Given the description of an element on the screen output the (x, y) to click on. 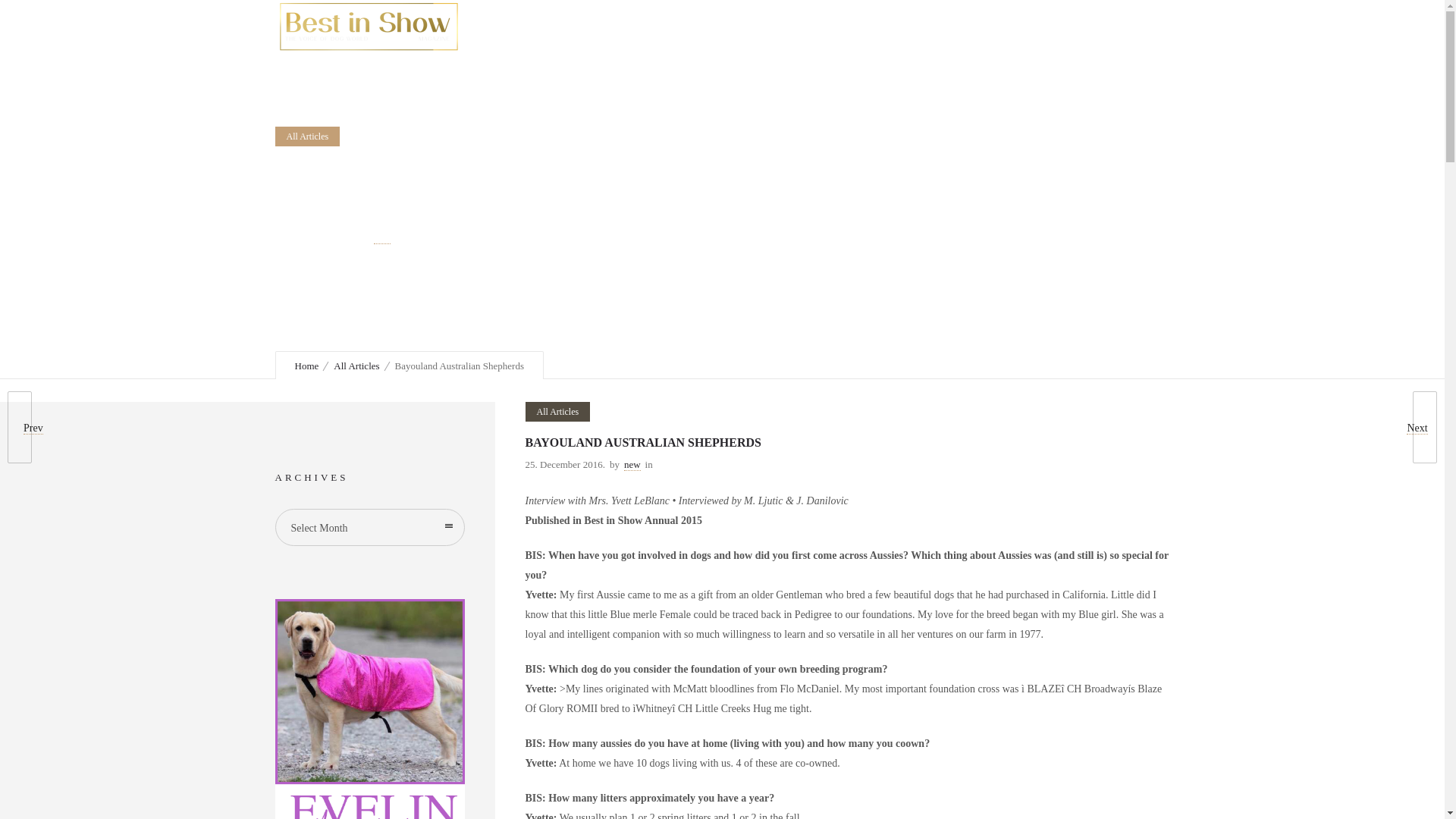
DIGITAL EDITION (722, 26)
All Articles (307, 136)
CONTACT US (1001, 26)
new (382, 237)
ADVERTISING (838, 26)
All Articles (556, 411)
BLOG (921, 26)
HOME (627, 26)
new (632, 465)
Home (306, 365)
